Given the description of an element on the screen output the (x, y) to click on. 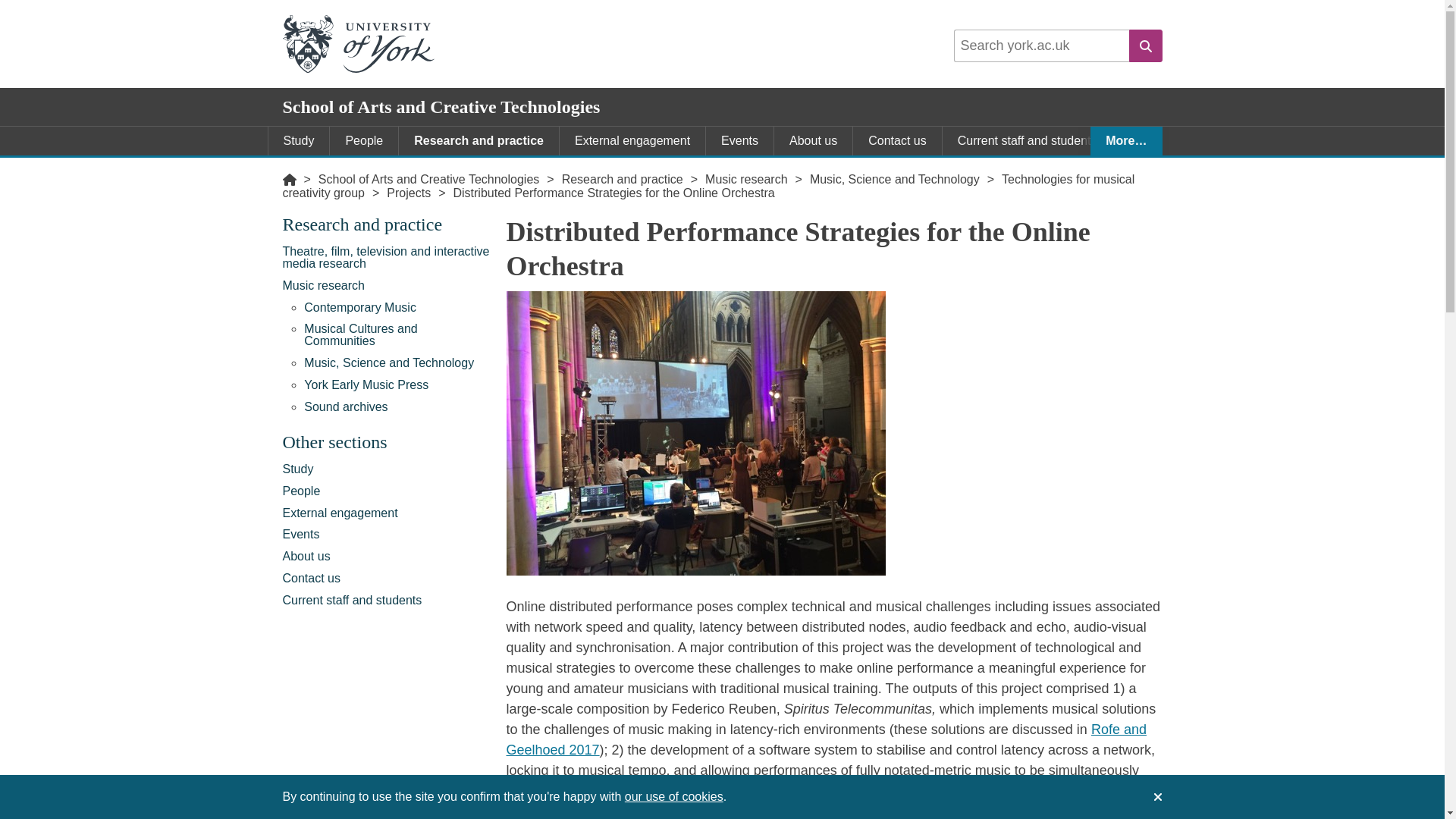
Research and practice (622, 178)
Current staff and students (1027, 140)
Home (288, 178)
Dismiss this notification (1156, 796)
Research and practice (386, 227)
External engagement (631, 140)
Events (739, 140)
Contemporary Music (397, 307)
Music research (386, 285)
Home (288, 179)
Projects (408, 192)
School of Arts and Creative Technologies (428, 178)
Theatre, film, television and interactive media research (386, 257)
York Early Music Press (397, 385)
Sound archives (397, 406)
